Given the description of an element on the screen output the (x, y) to click on. 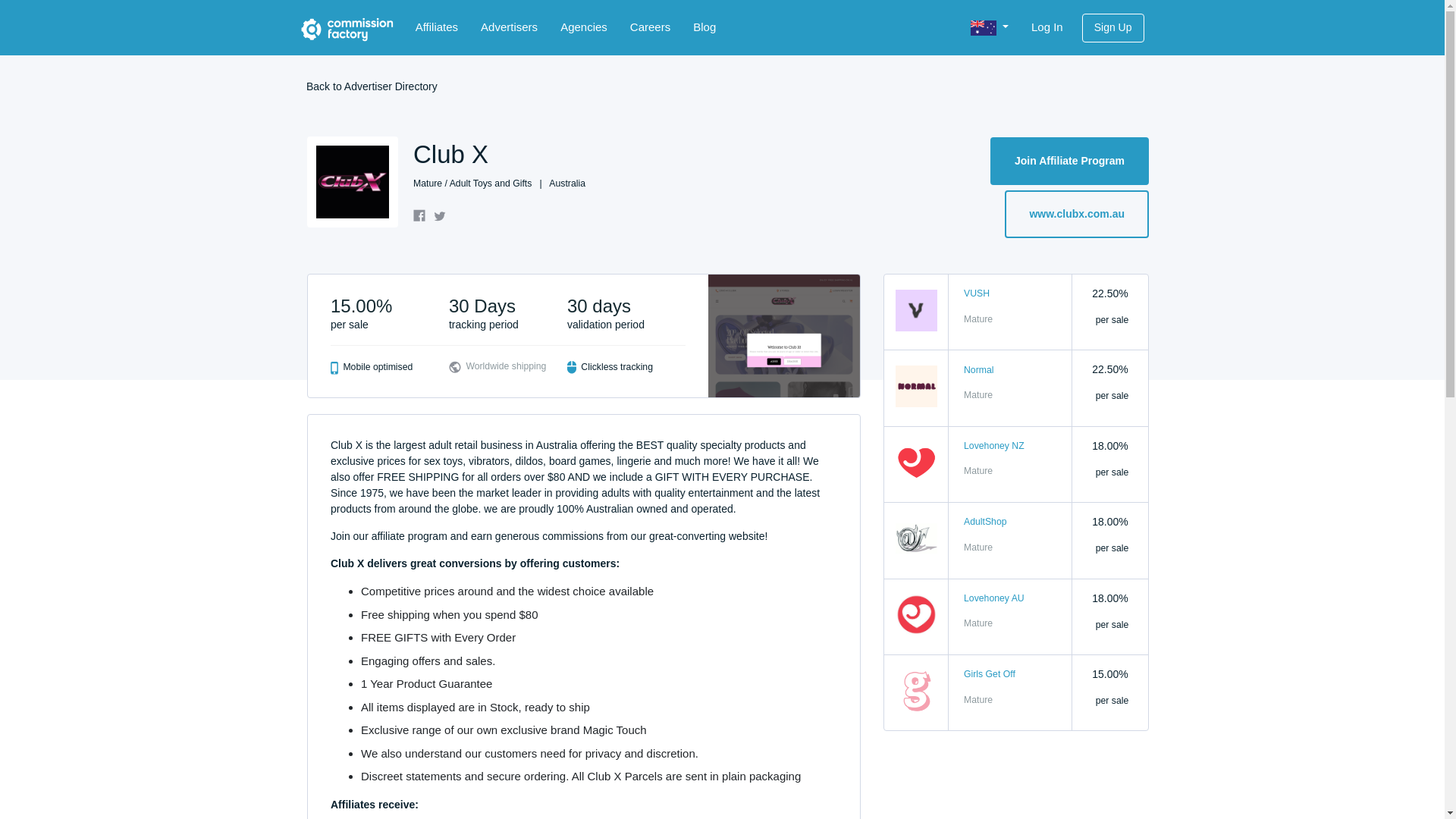
Careers (649, 27)
AdultShop (985, 521)
Back to Advertiser Directory (371, 86)
Agencies (583, 27)
Affiliates (436, 27)
Commission Factory - Part of Awin (346, 29)
www.clubx.com.au (1076, 213)
Lovehoney AU (994, 597)
Advertisers (508, 27)
Blog (703, 27)
VUSH (976, 293)
Log In (1047, 27)
Lovehoney NZ (994, 445)
Sign Up (1112, 27)
Join Affiliate Program (1069, 160)
